Given the description of an element on the screen output the (x, y) to click on. 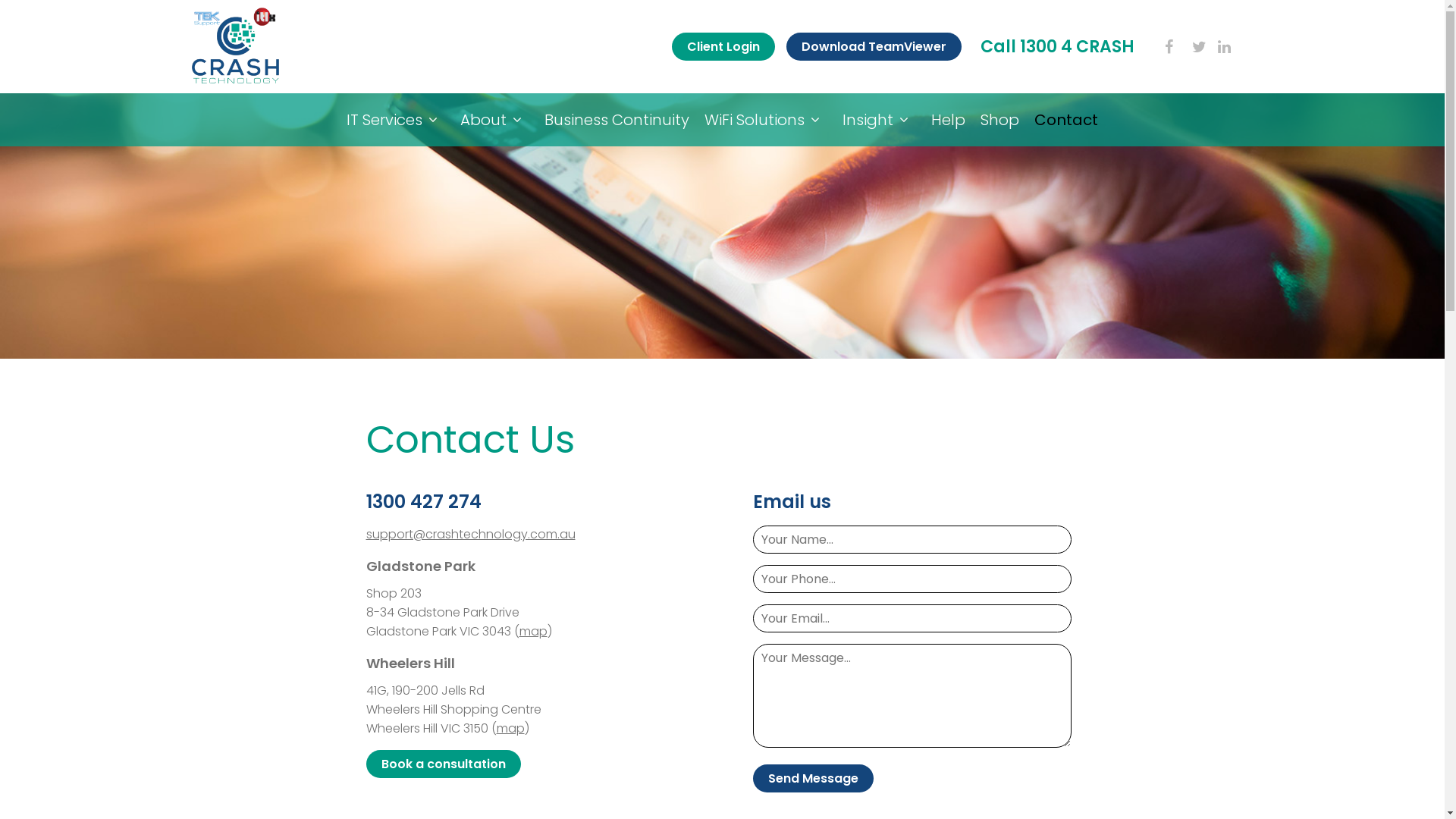
Book a consultation Element type: text (442, 763)
map Element type: text (532, 631)
Send Message Element type: text (812, 778)
IT Services Element type: text (395, 119)
Call 1300 4 CRASH Element type: text (1056, 46)
Help Element type: text (947, 119)
Shop Element type: text (999, 119)
Business Continuity Element type: text (616, 119)
WiFi Solutions Element type: text (765, 119)
Client Login Element type: text (723, 46)
Contact Element type: text (1065, 119)
map Element type: text (509, 728)
About Element type: text (494, 119)
Insight Element type: text (878, 119)
support@crashtechnology.com.au Element type: text (469, 533)
Download TeamViewer Element type: text (872, 46)
